Given the description of an element on the screen output the (x, y) to click on. 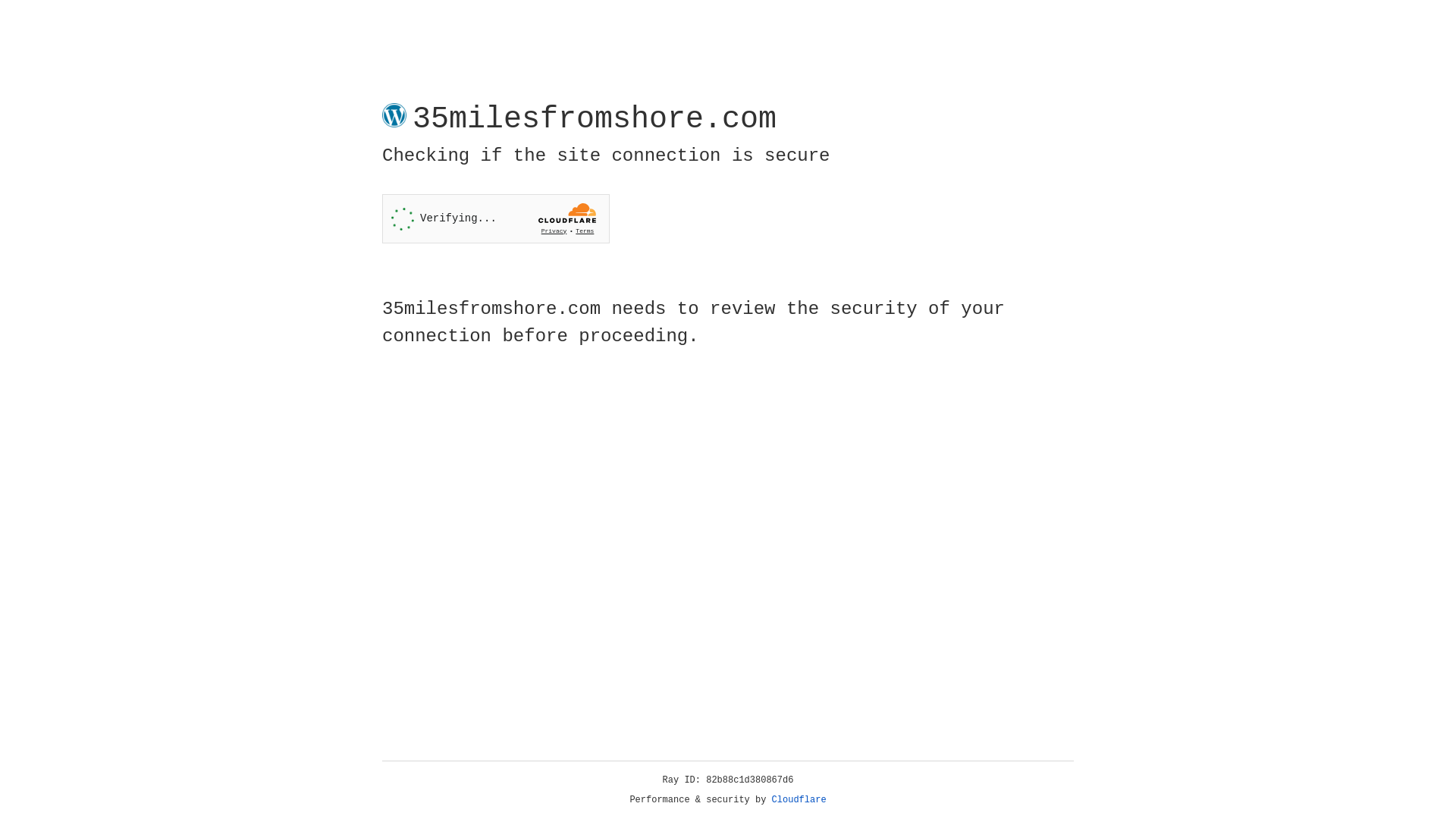
Widget containing a Cloudflare security challenge Element type: hover (495, 218)
Cloudflare Element type: text (798, 799)
